Given the description of an element on the screen output the (x, y) to click on. 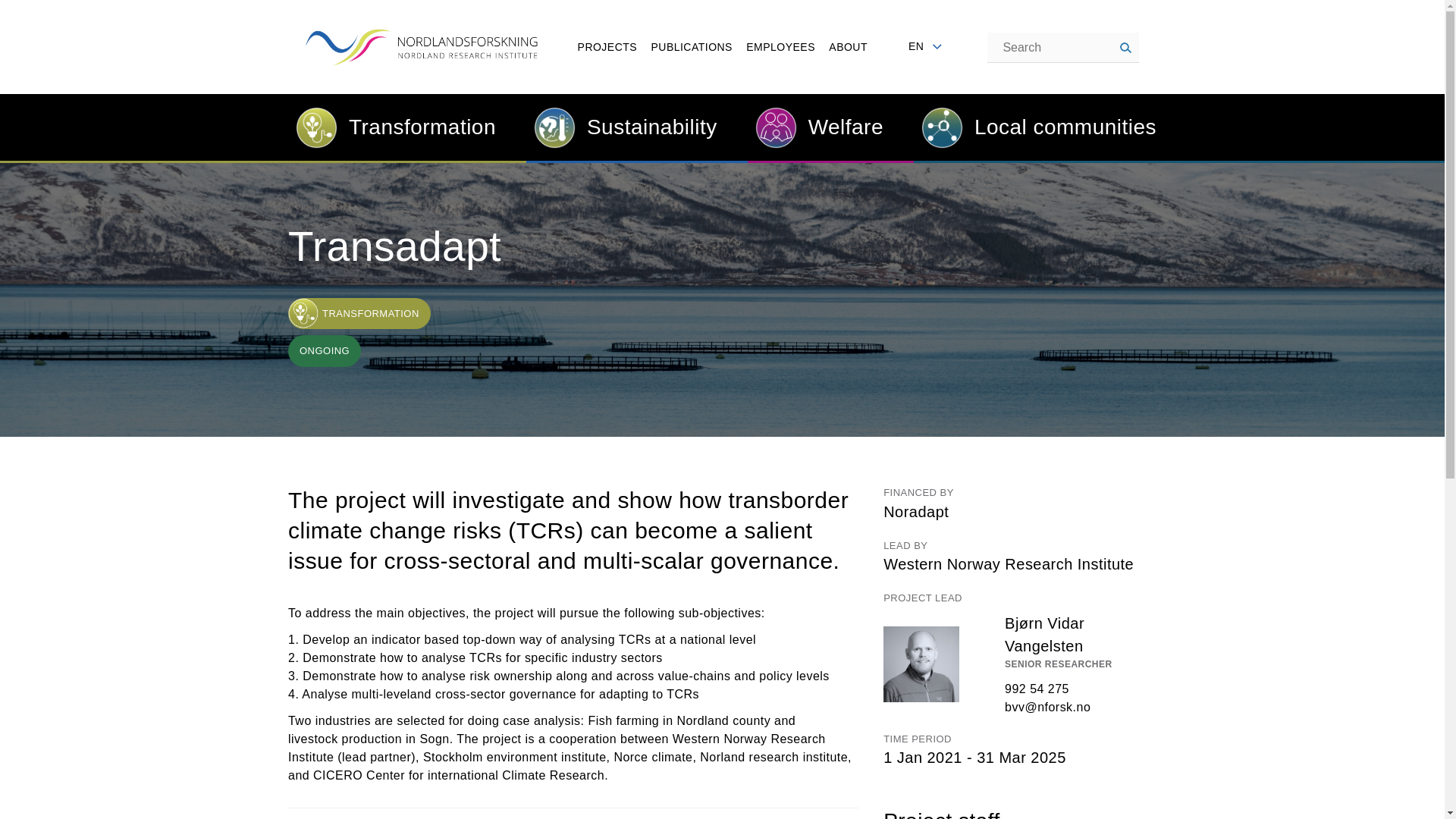
PUBLICATIONS (691, 47)
992 54 275 (1036, 688)
PROJECTS (607, 47)
Search (1125, 48)
Welfare (815, 127)
Home (424, 34)
ABOUT (847, 47)
Local communities (1035, 128)
ONGOING (324, 350)
EMPLOYEES (780, 47)
Transformation (392, 128)
Sustainability (621, 127)
